Given the description of an element on the screen output the (x, y) to click on. 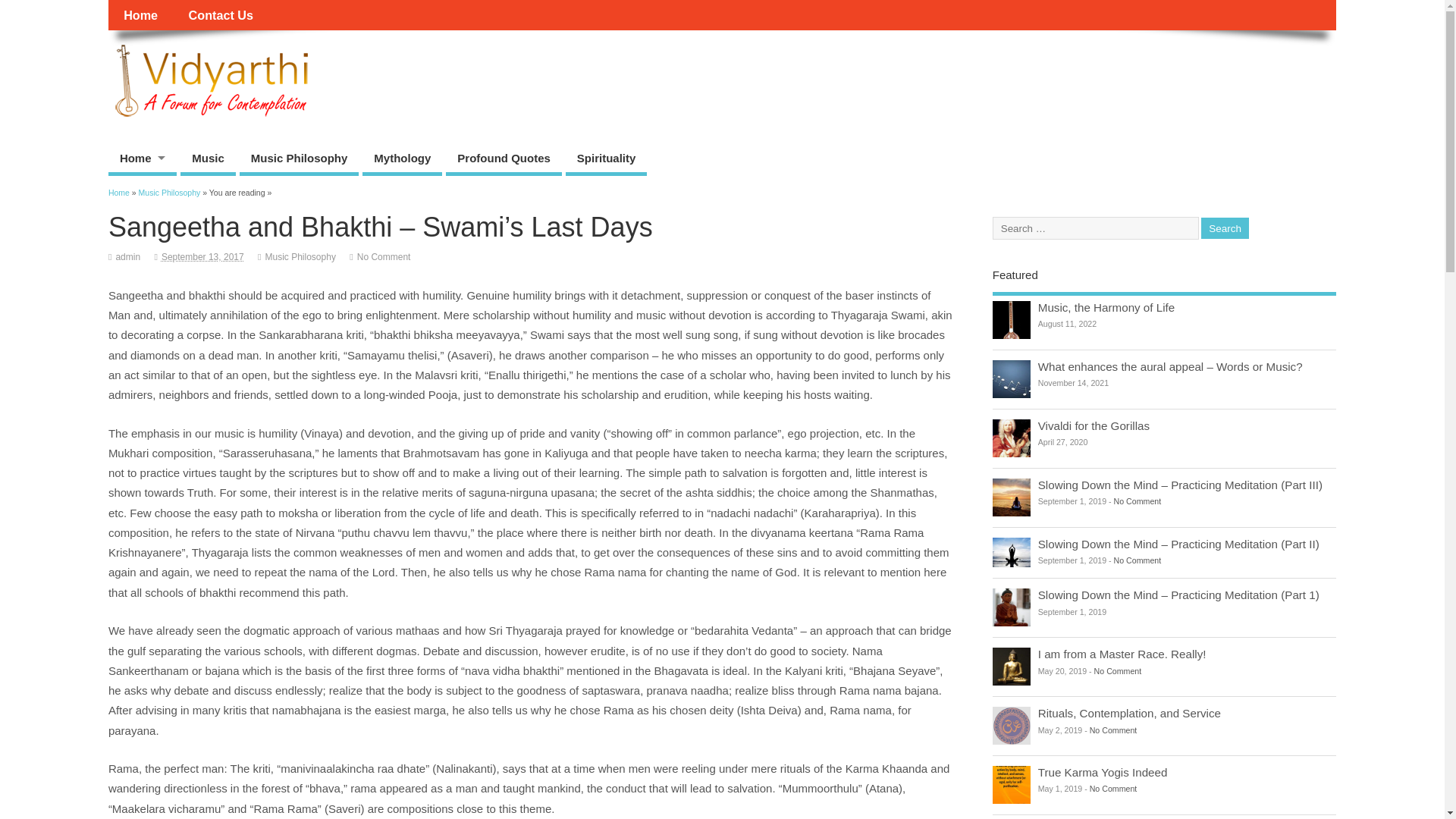
admin (127, 256)
Music Philosophy (169, 192)
Search (1225, 228)
2017-09-13T23:03:54-04:00 (202, 256)
Search (1225, 228)
Search for: (1095, 228)
Music Philosophy (300, 256)
No Comment (1137, 501)
Music (207, 160)
Music, the Harmony of Life (1011, 320)
Music, the Harmony of Life (1106, 307)
No Comment (1137, 560)
Spirituality (606, 160)
No Comment (383, 256)
Home (141, 160)
